Given the description of an element on the screen output the (x, y) to click on. 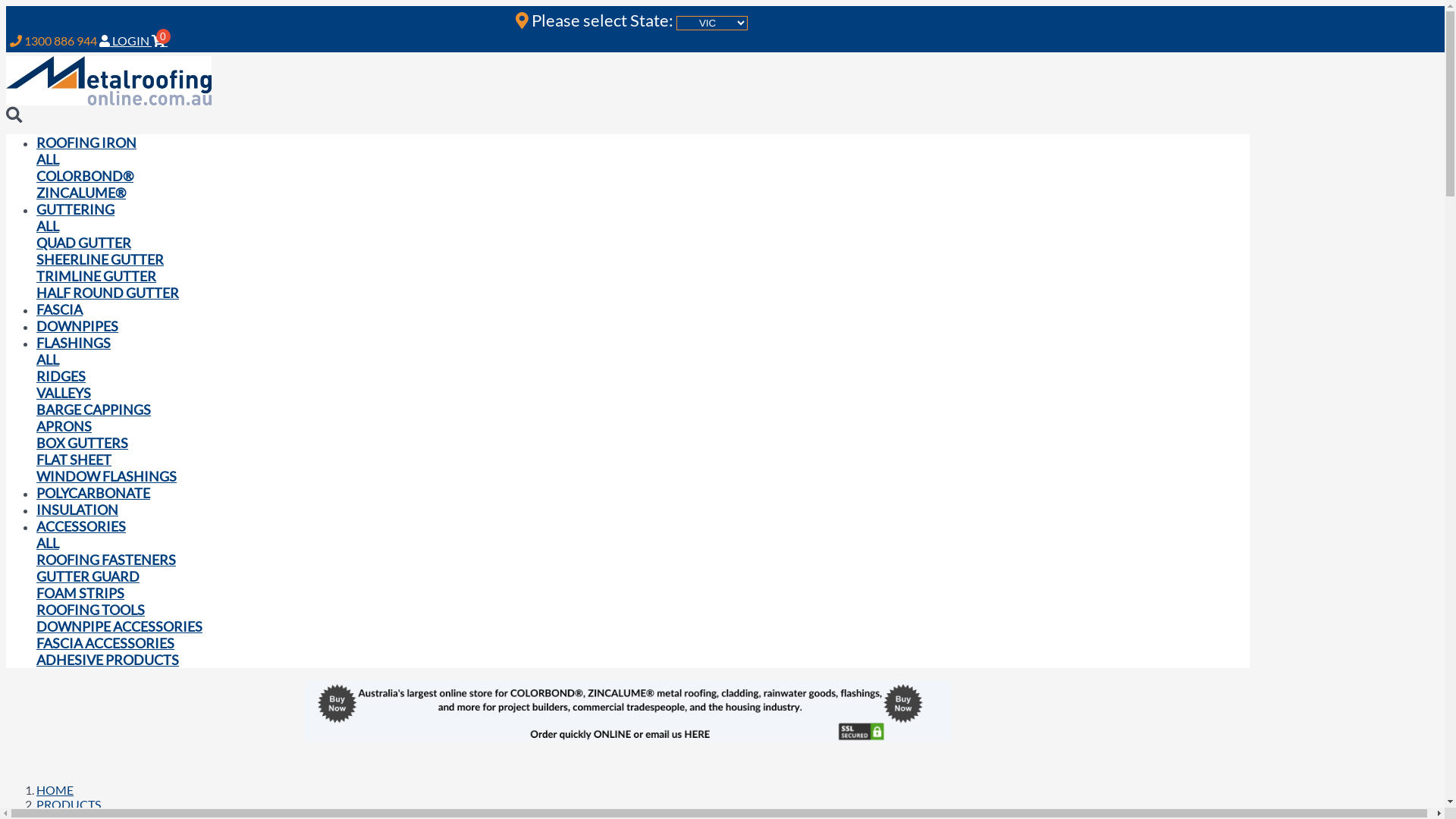
DOWNPIPE ACCESSORIES Element type: text (119, 626)
TRIMLINE GUTTER Element type: text (96, 275)
PRODUCTS Element type: text (68, 804)
ROOFING FASTENERS Element type: text (105, 559)
HOME Element type: text (54, 789)
INSULATION Element type: text (77, 509)
GUTTERING Element type: text (75, 208)
FOAM STRIPS Element type: text (80, 592)
BARGE CAPPINGS Element type: text (93, 409)
DOWNPIPES Element type: text (77, 325)
FLAT SHEET Element type: text (73, 459)
LOGIN Element type: text (125, 40)
ALL Element type: text (47, 225)
BOX GUTTERS Element type: text (82, 442)
ACCESSORIES Element type: text (80, 525)
ALL Element type: text (47, 359)
ROOFING IRON Element type: text (86, 142)
0 Element type: text (160, 40)
FASCIA ACCESSORIES Element type: text (105, 642)
APRONS Element type: text (63, 425)
FLASHINGS Element type: text (73, 342)
RIDGES Element type: text (60, 375)
ALL Element type: text (47, 542)
QUAD GUTTER Element type: text (83, 242)
VALLEYS Element type: text (63, 392)
HALF ROUND GUTTER Element type: text (107, 292)
FASCIA Element type: text (59, 309)
GUTTER GUARD Element type: text (87, 575)
POLYCARBONATE Element type: text (93, 492)
SHEERLINE GUTTER Element type: text (99, 259)
ADHESIVE PRODUCTS Element type: text (107, 659)
ALL Element type: text (47, 158)
WINDOW FLASHINGS Element type: text (106, 475)
ROOFING TOOLS Element type: text (90, 609)
